Given the description of an element on the screen output the (x, y) to click on. 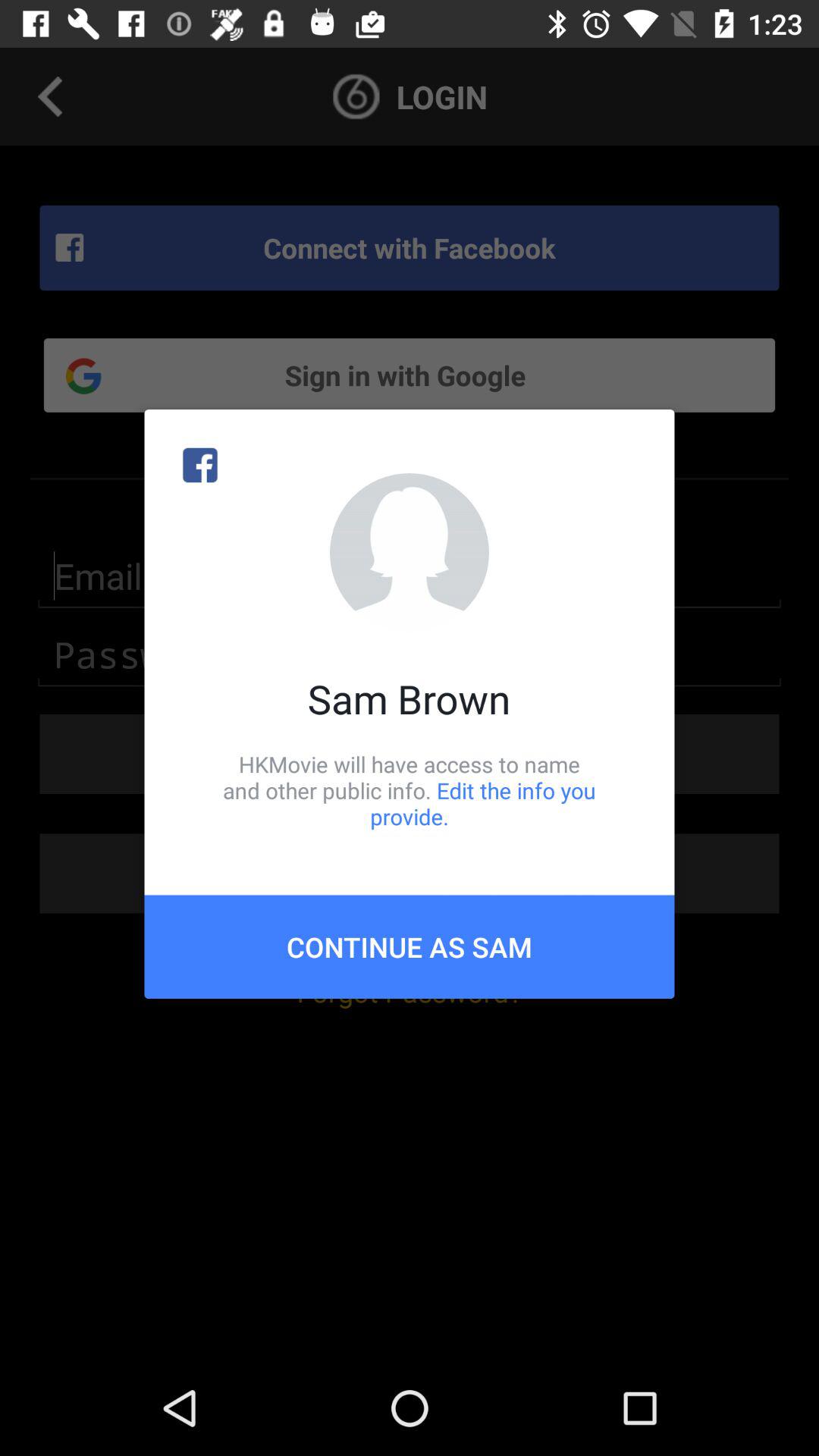
jump to hkmovie will have (409, 790)
